Given the description of an element on the screen output the (x, y) to click on. 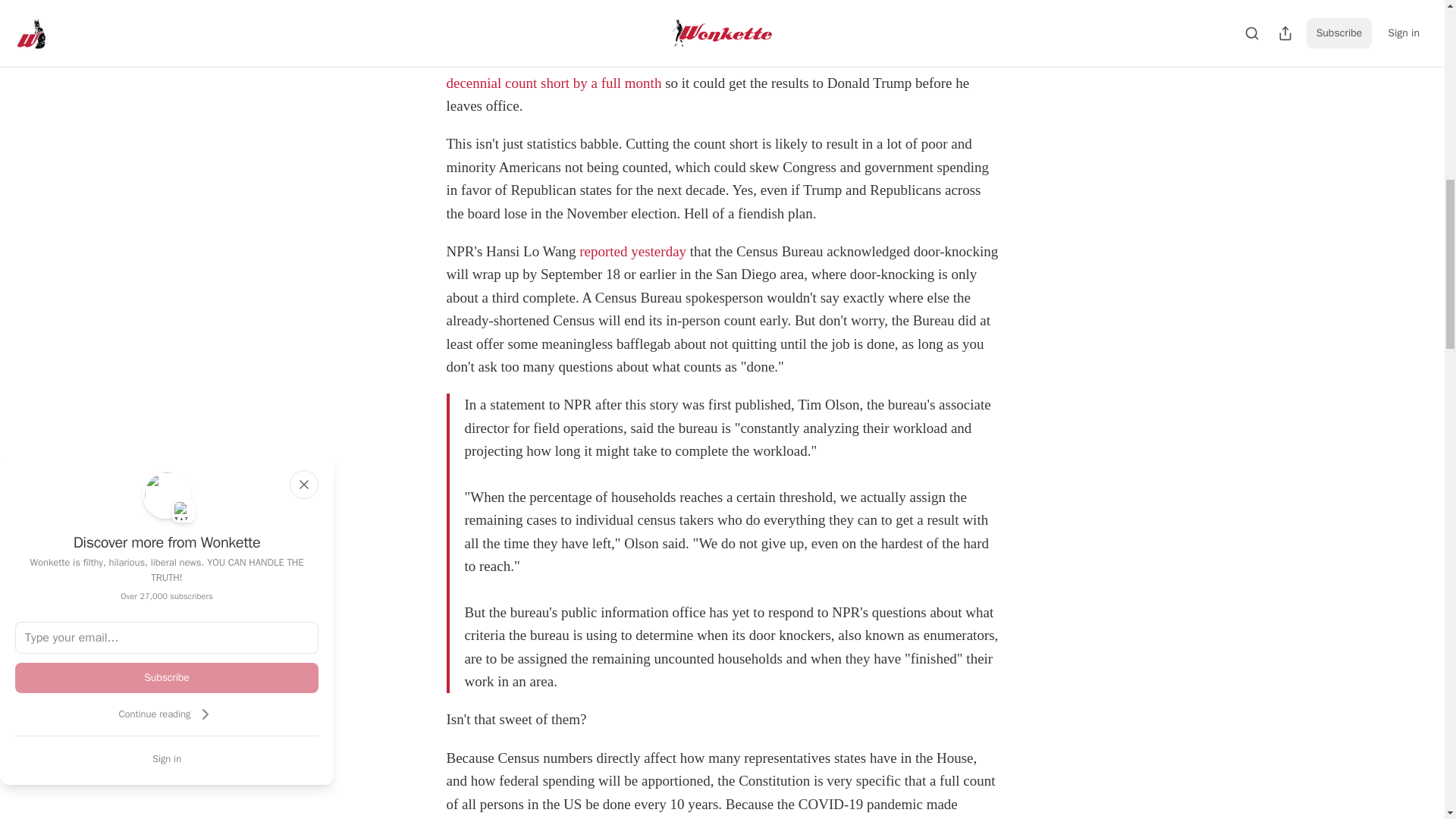
cut this year's decennial count short by a full month (705, 70)
reported yesterday (632, 251)
Subscribe (166, 677)
Sign in (166, 758)
